Given the description of an element on the screen output the (x, y) to click on. 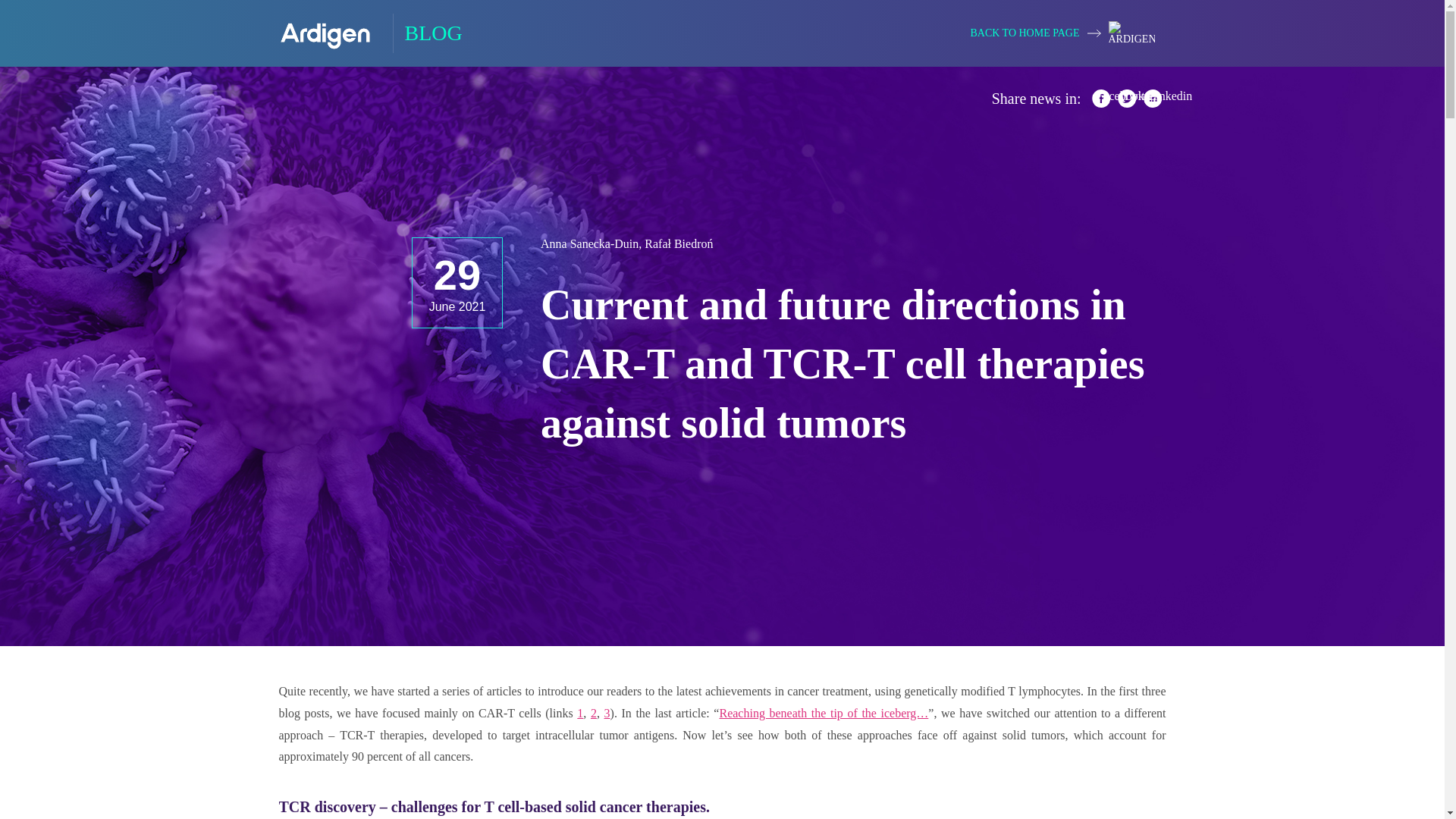
Linkedin (1151, 98)
Facebook (1100, 98)
BLOG (371, 32)
BACK TO HOME PAGE (1062, 33)
Twitter (1126, 98)
